Given the description of an element on the screen output the (x, y) to click on. 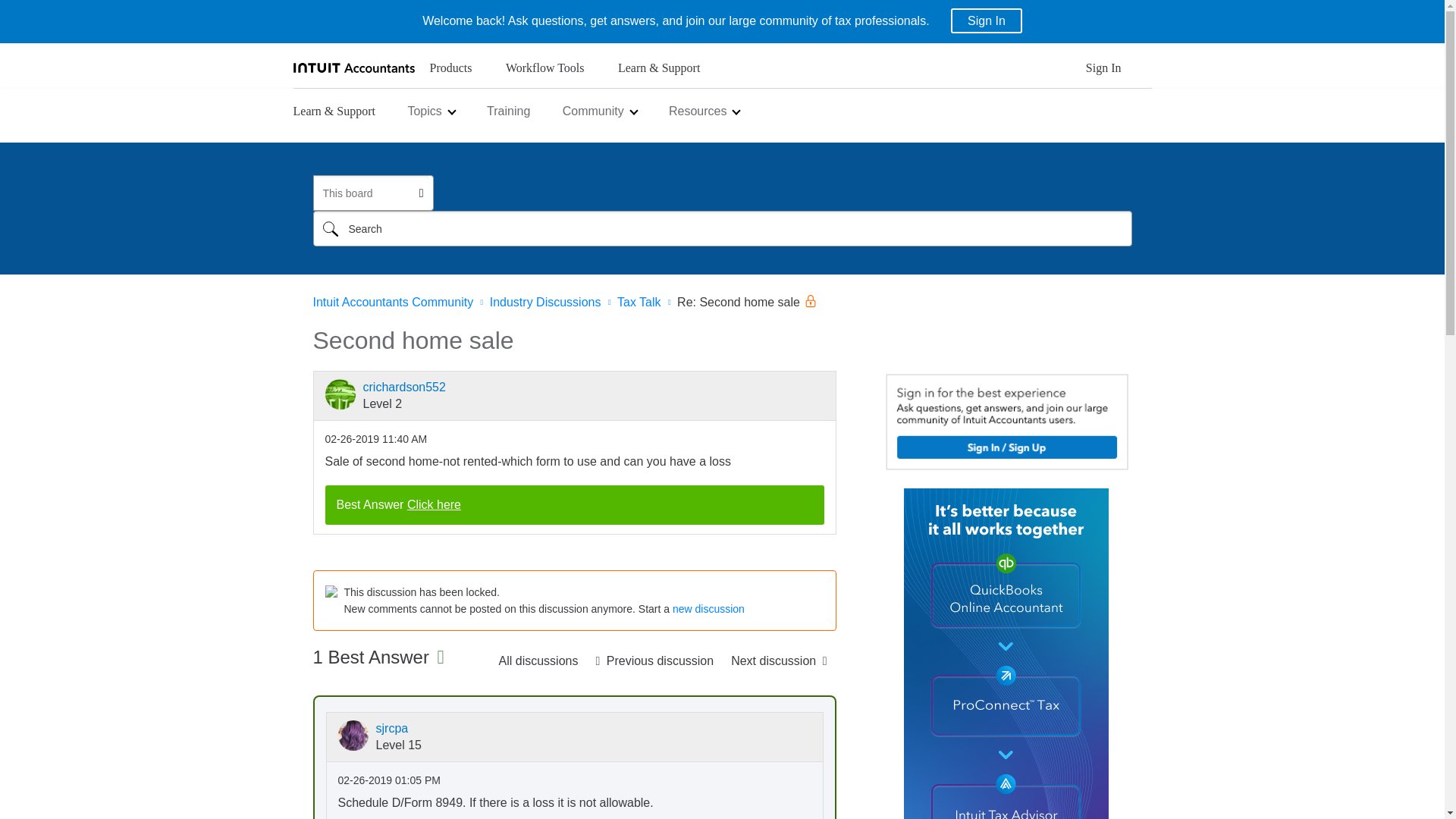
Search Granularity (371, 192)
crichardson552 (339, 394)
Sign In (1103, 72)
Posted on (375, 439)
paper filing Form 1040 (778, 660)
Form 3922 Transfer of stock through ESOP (654, 660)
Search (330, 228)
Sign In (986, 20)
Search (722, 228)
Search (330, 228)
